Given the description of an element on the screen output the (x, y) to click on. 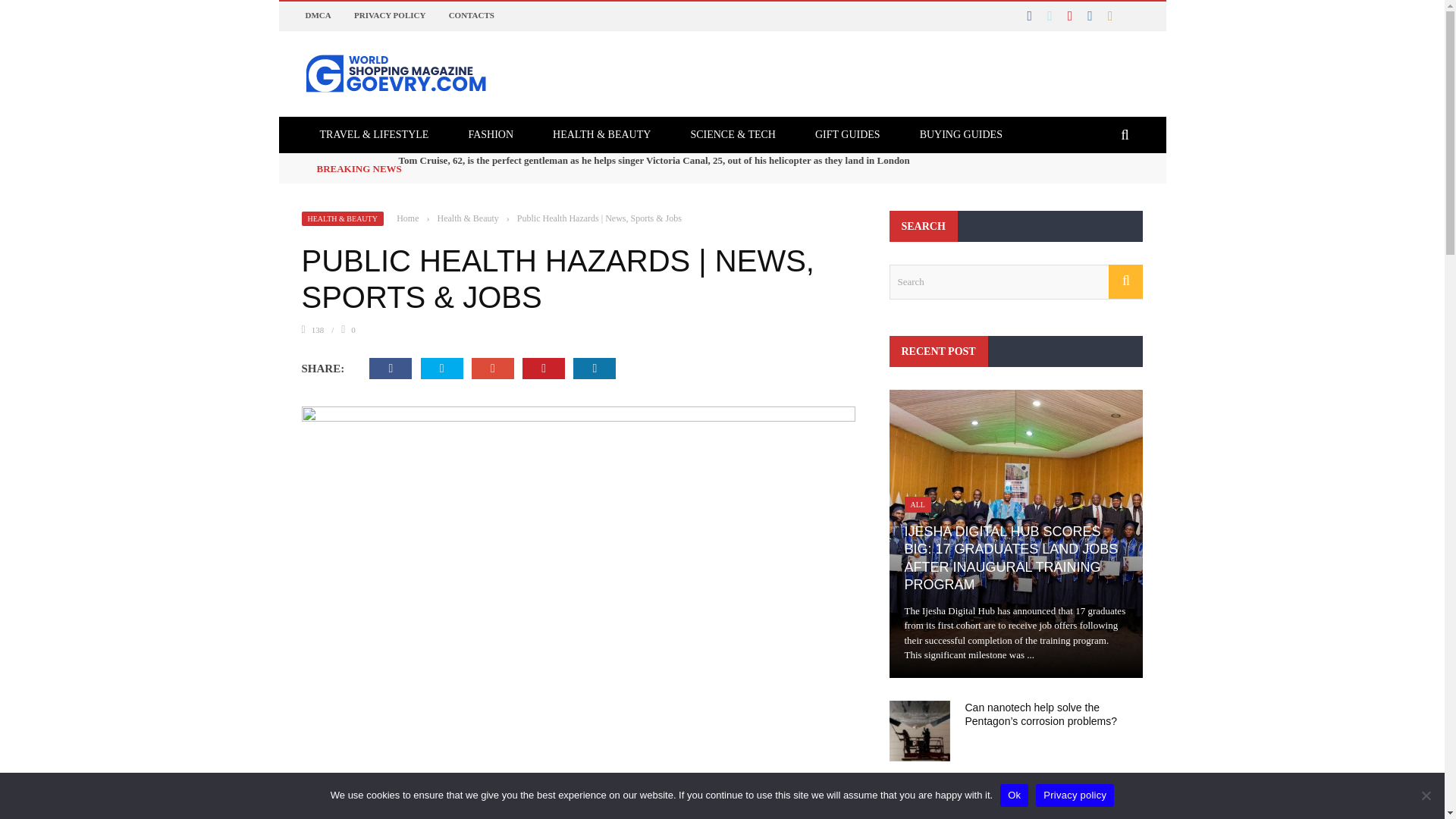
No (1425, 795)
DMCA (317, 14)
CONTACTS (471, 14)
PRIVACY POLICY (389, 14)
Search (1015, 281)
